Given the description of an element on the screen output the (x, y) to click on. 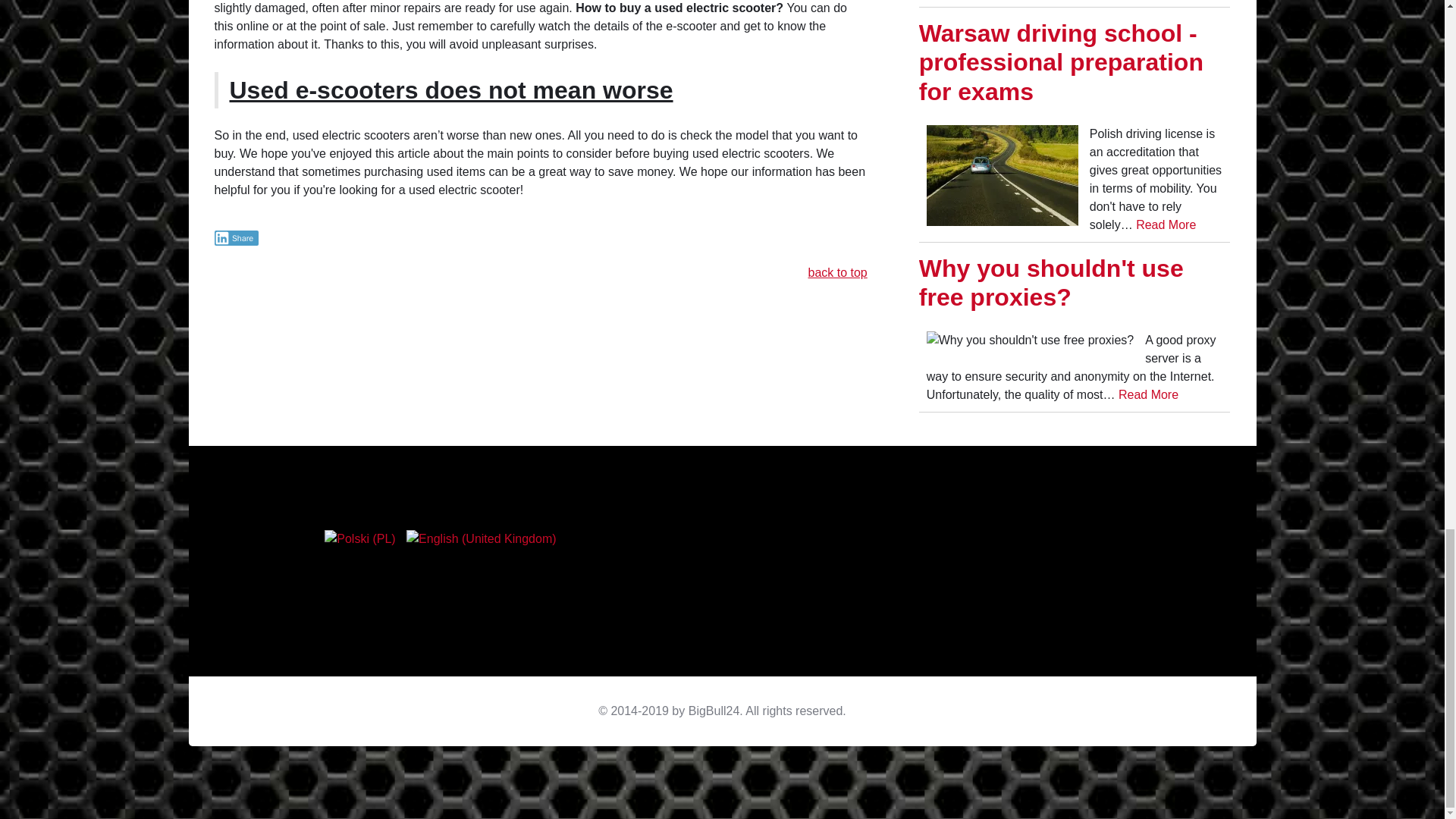
Share (236, 237)
back to top (837, 272)
Warsaw driving school - professional preparation for exams (1061, 62)
